Given the description of an element on the screen output the (x, y) to click on. 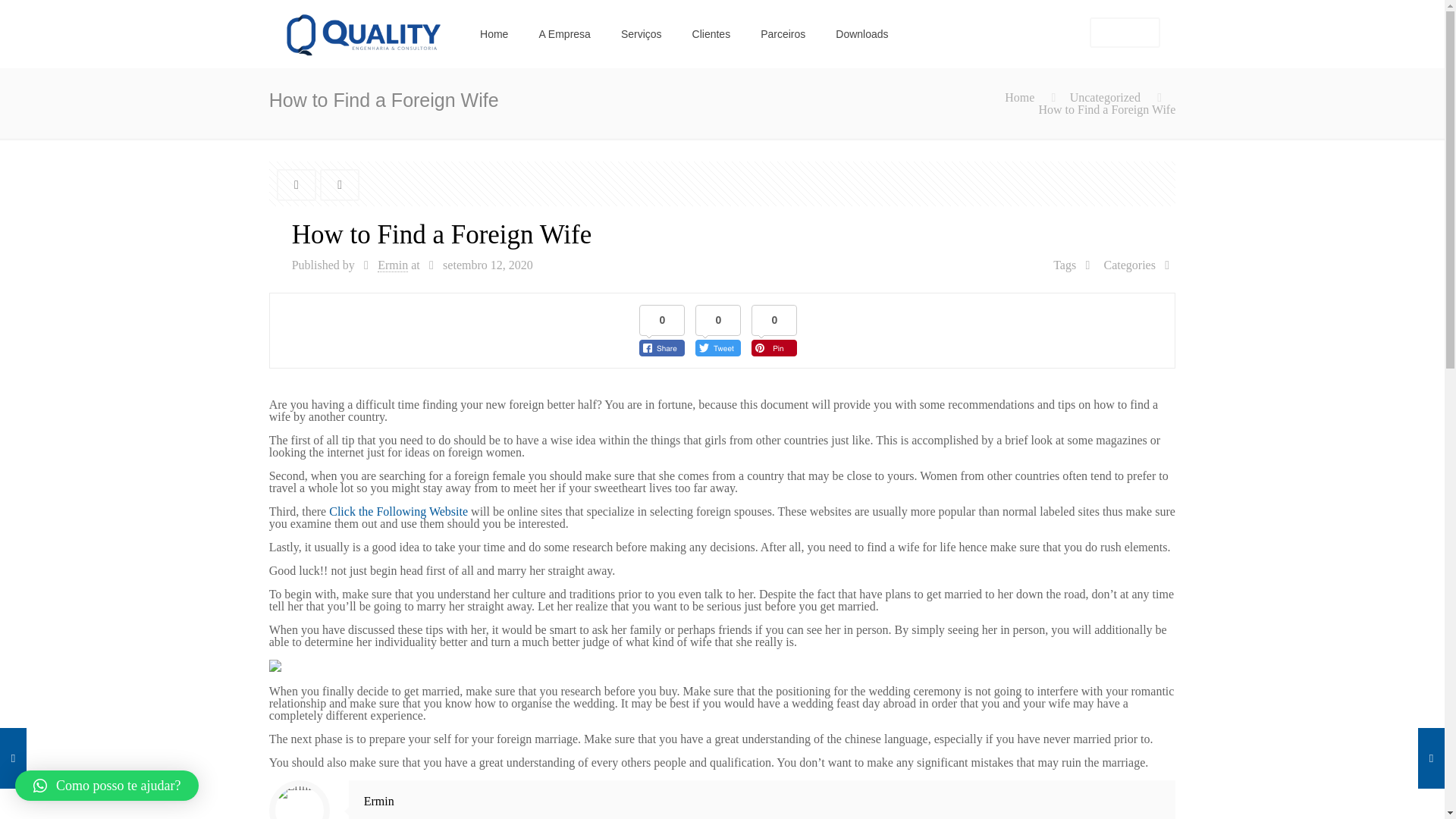
A Empresa (563, 33)
Quality (362, 33)
Contato (1124, 32)
Ermin (392, 264)
Clientes (711, 33)
Parceiros (783, 33)
Como posso te ajudar? (106, 785)
Click the Following Website (398, 511)
Uncategorized (1105, 97)
Home (1018, 97)
Ermin (379, 800)
Downloads (861, 33)
